Given the description of an element on the screen output the (x, y) to click on. 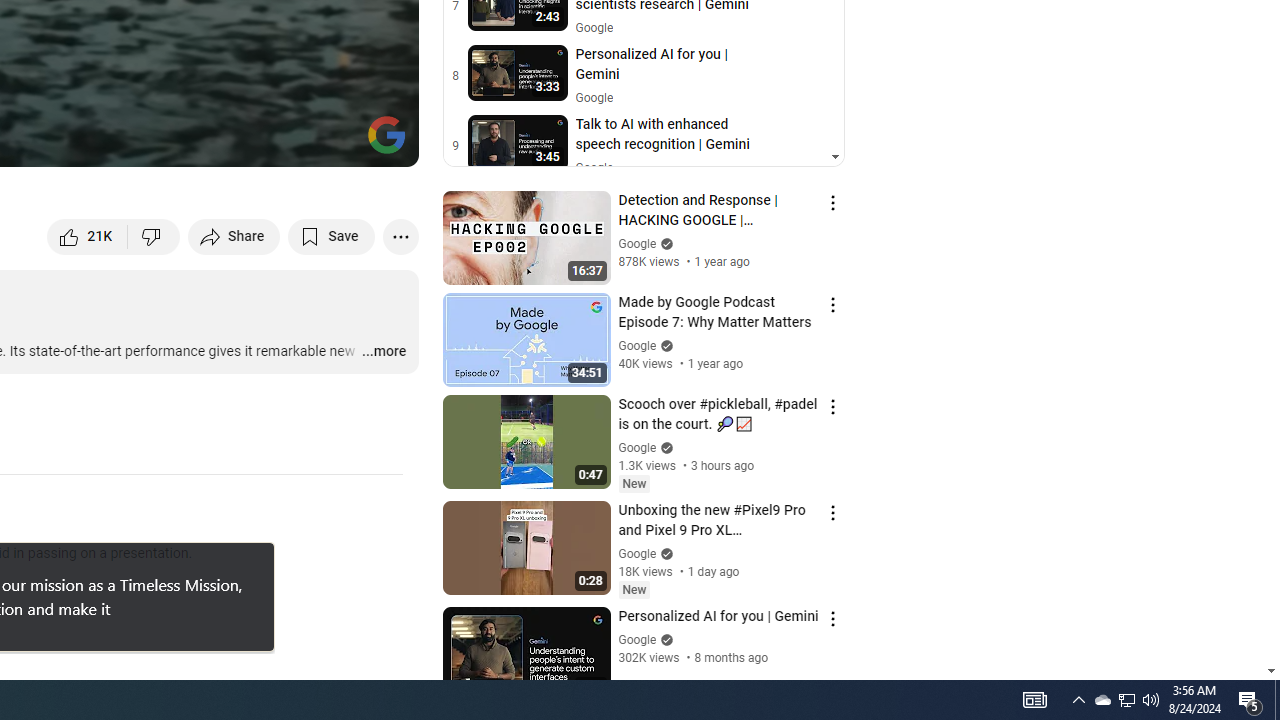
Verified (664, 639)
Subtitles/closed captions unavailable (190, 142)
Miniplayer (i) (286, 142)
Channel watermark (386, 134)
